Given the description of an element on the screen output the (x, y) to click on. 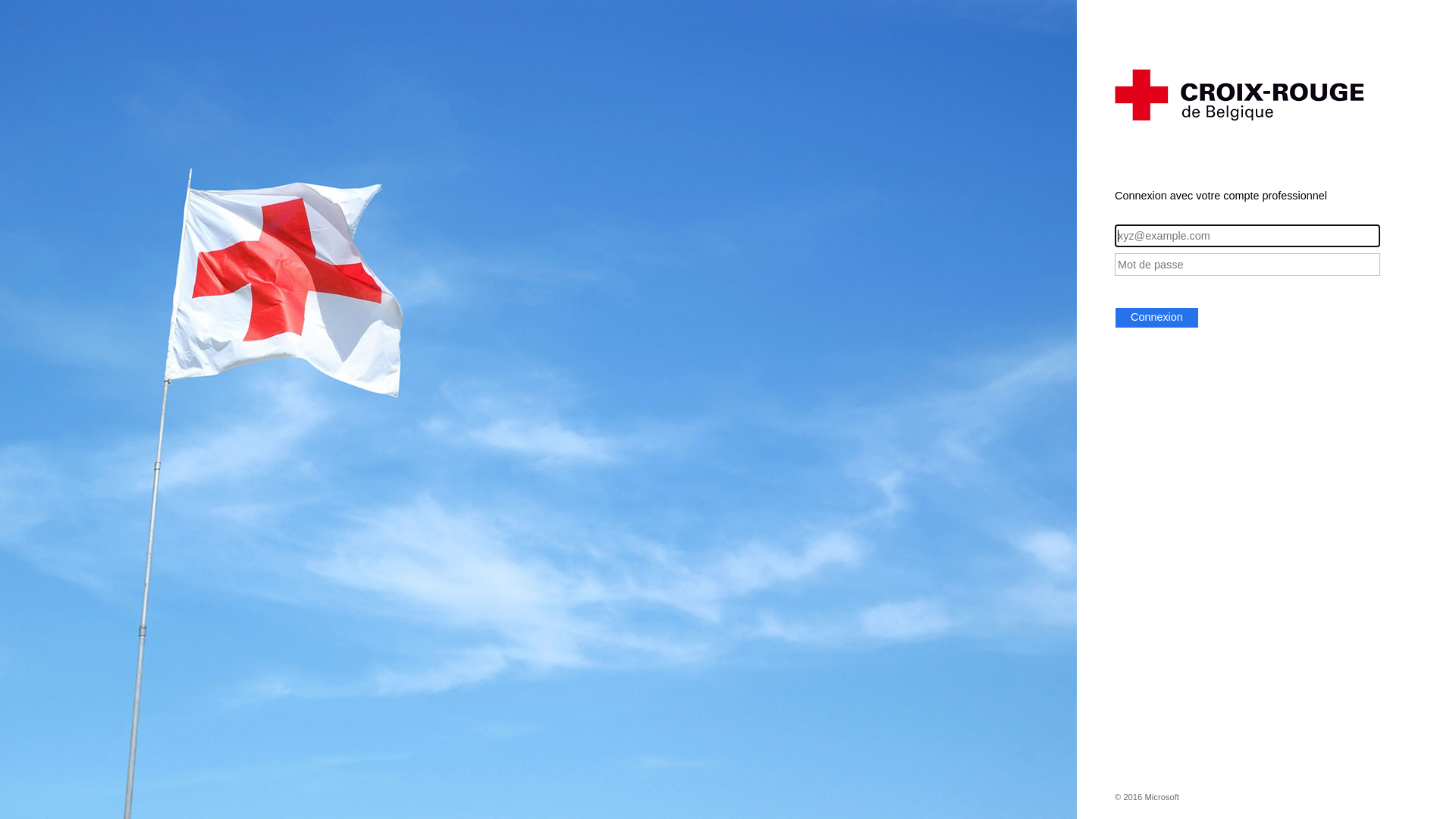
Connexion Element type: text (1156, 317)
